Given the description of an element on the screen output the (x, y) to click on. 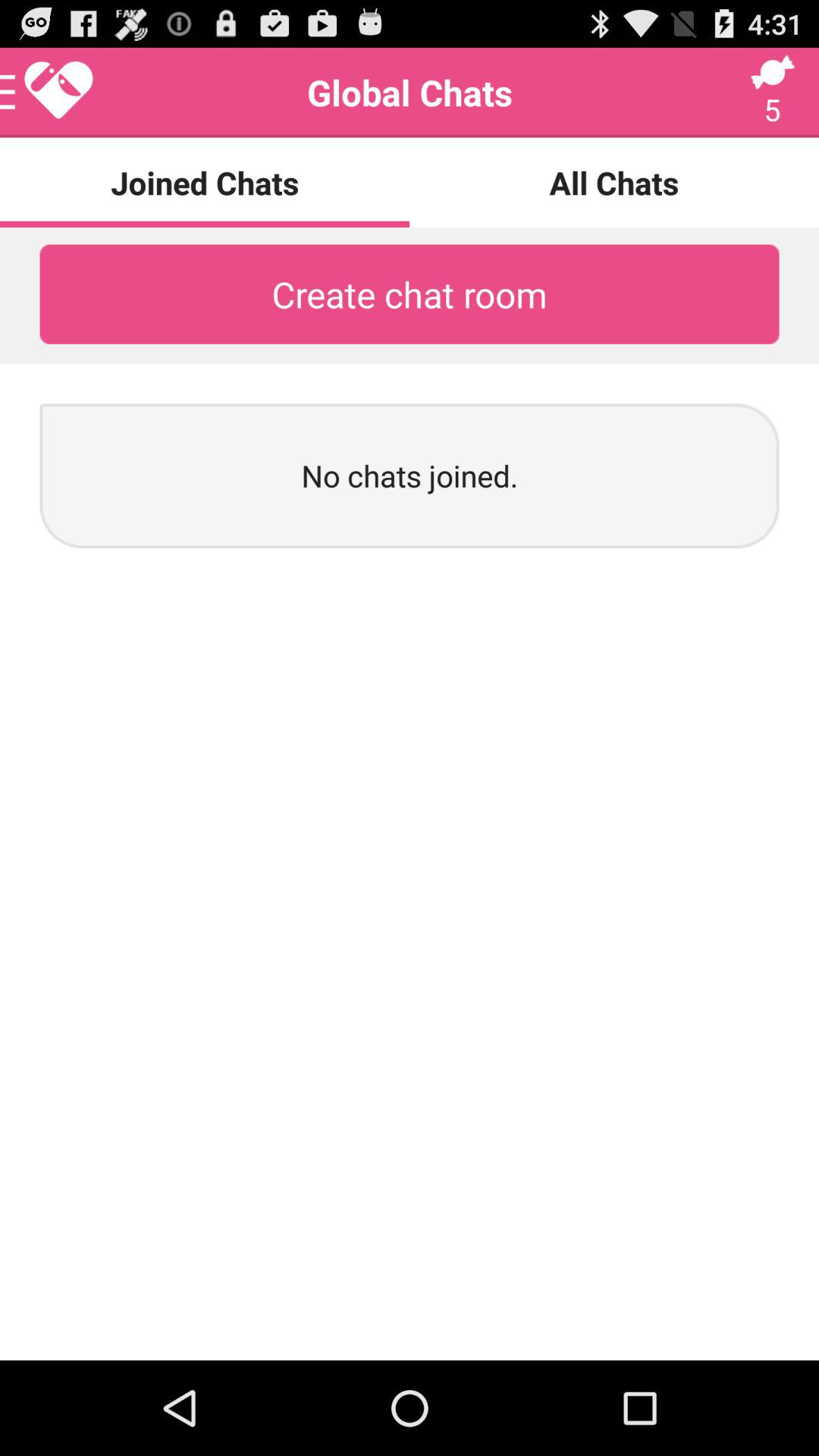
open icon to the left of all chats (47, 92)
